Given the description of an element on the screen output the (x, y) to click on. 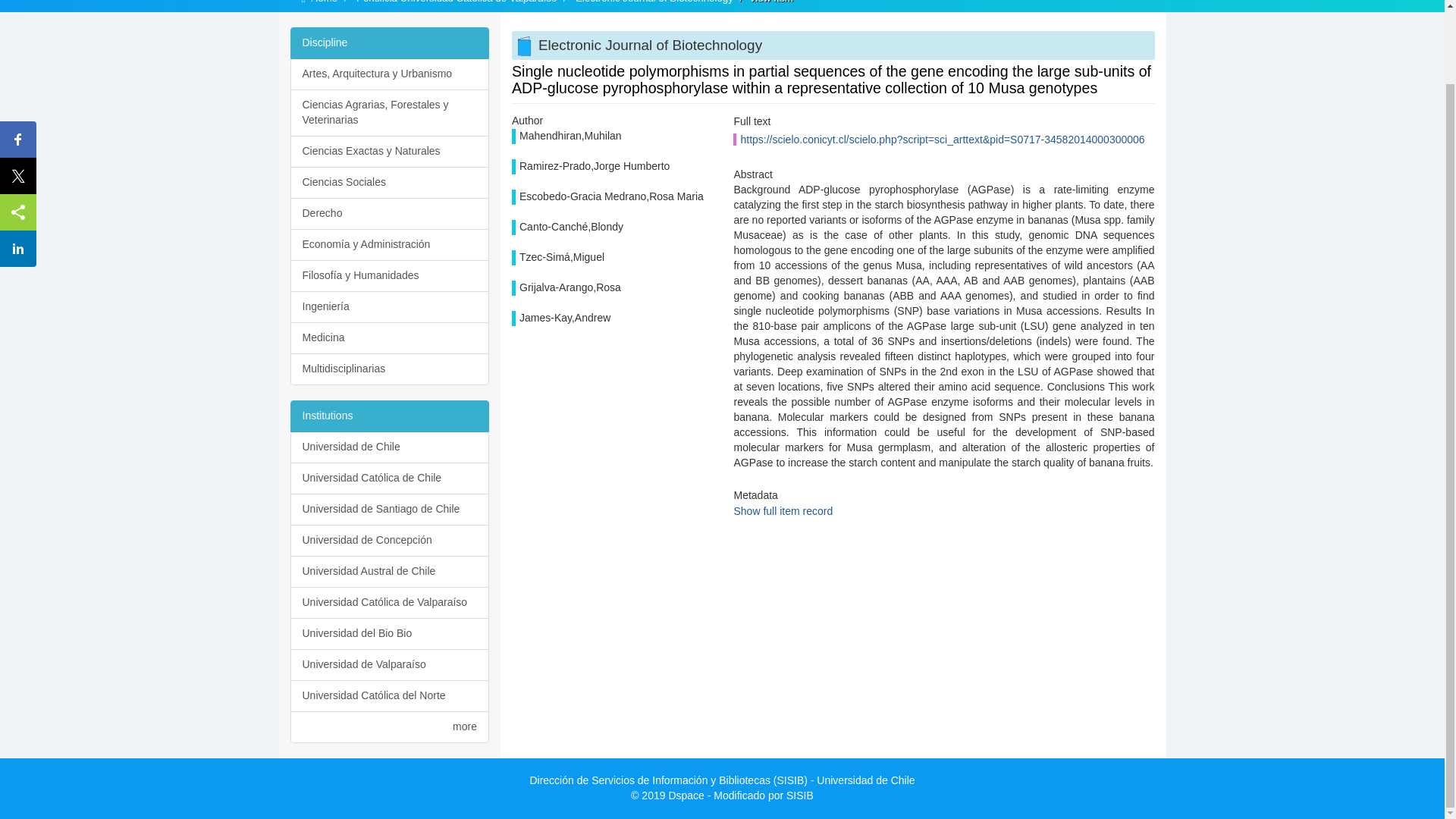
Home (324, 2)
Show full item record (782, 510)
Multidisciplinarias (389, 368)
Artes, Arquitectura y Urbanismo (389, 74)
Universidad Austral de Chile (389, 572)
Universidad de Chile (389, 447)
Ciencias Exactas y Naturales (389, 151)
Ciencias Sociales (389, 183)
Universidad de Santiago de Chile (389, 509)
Derecho (389, 214)
Ciencias Agrarias, Forestales y Veterinarias (389, 112)
Institutions (389, 416)
Discipline (389, 42)
Electronic Journal of Biotechnology (654, 2)
Universidad del Bio Bio (389, 634)
